Given the description of an element on the screen output the (x, y) to click on. 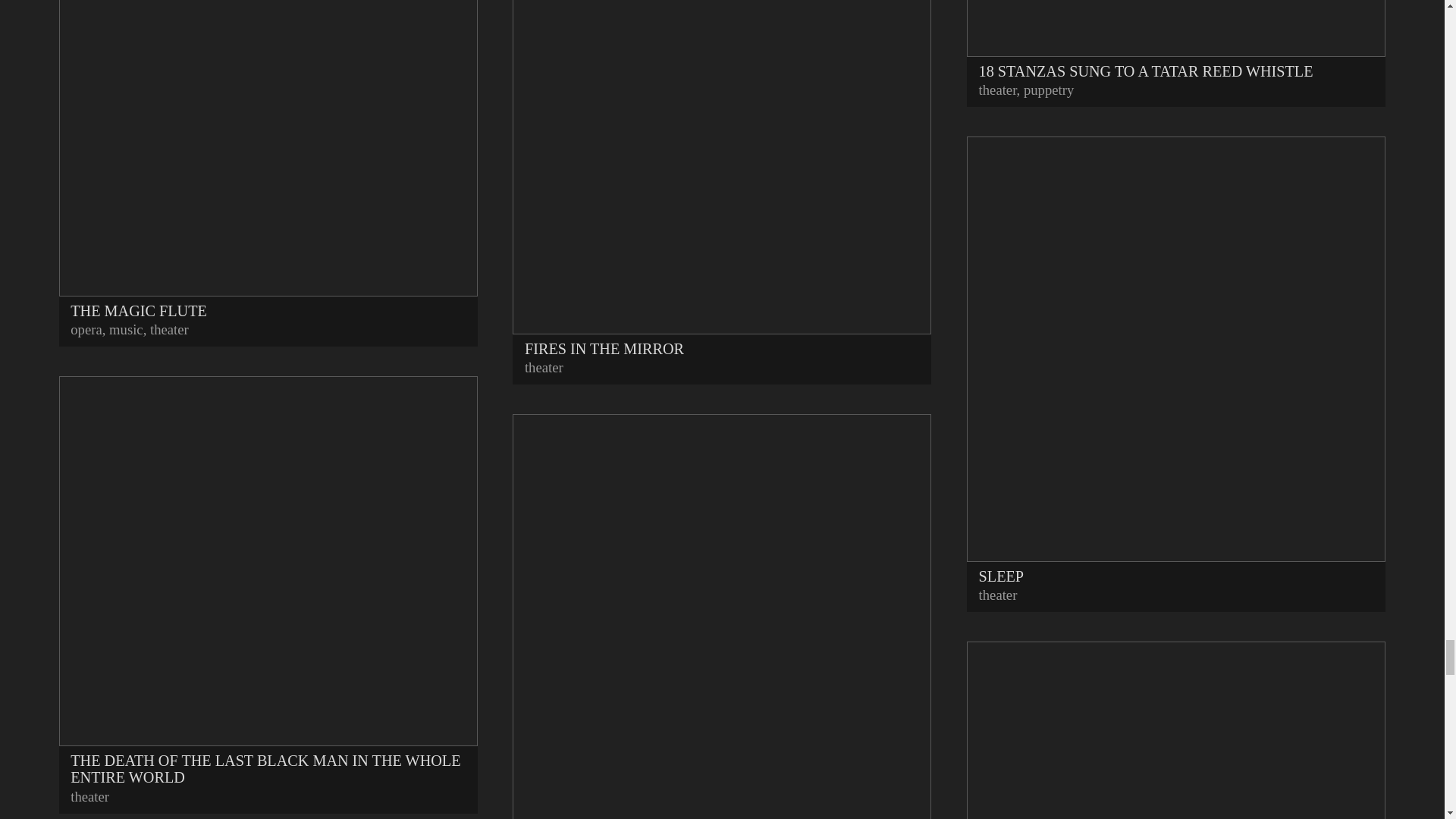
music (125, 329)
opera (85, 329)
theater (89, 796)
theater (169, 329)
